Given the description of an element on the screen output the (x, y) to click on. 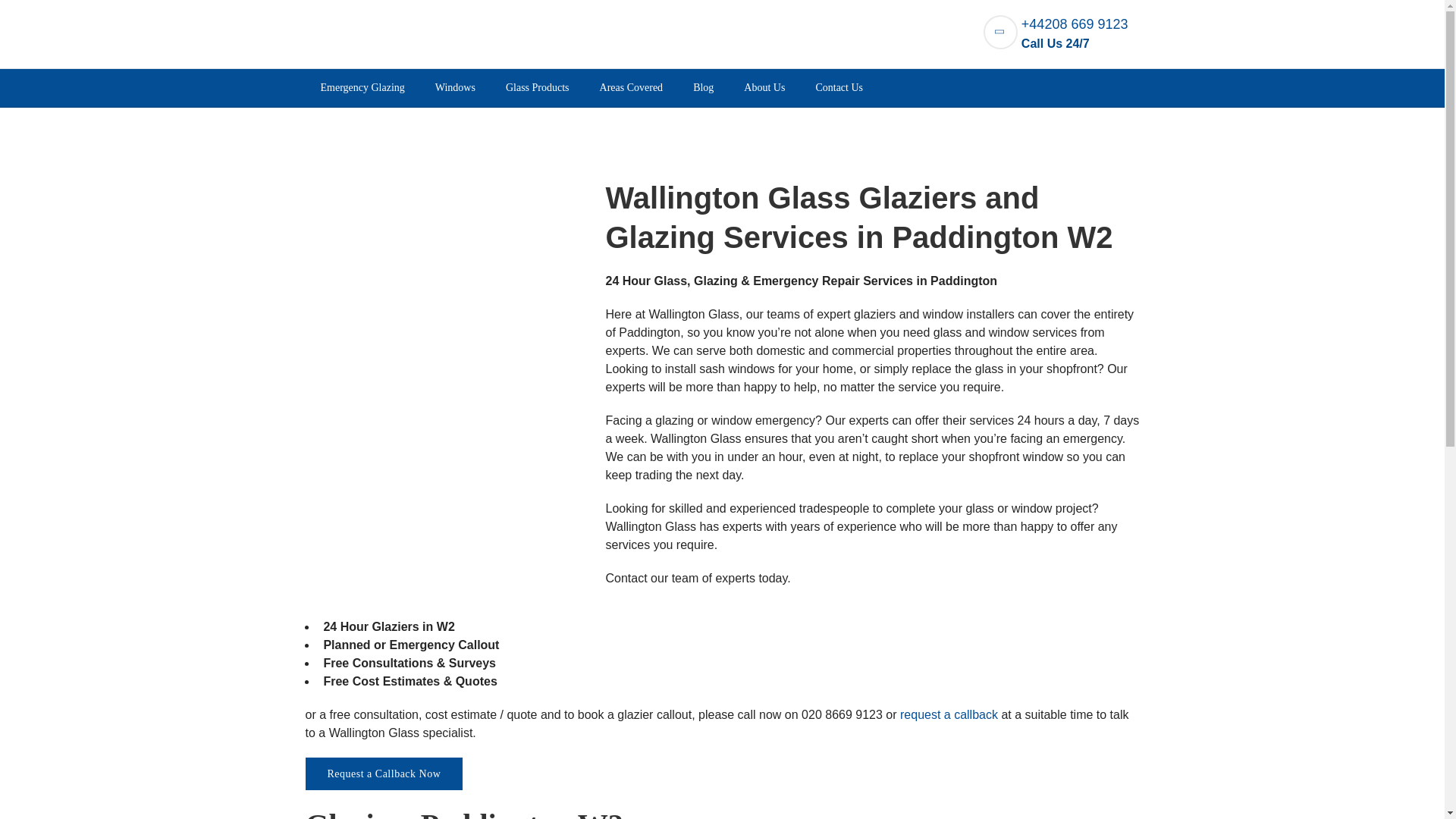
Glass Products (537, 87)
Areas Covered (631, 87)
Emergency Glazing (361, 87)
Windows (455, 87)
